Given the description of an element on the screen output the (x, y) to click on. 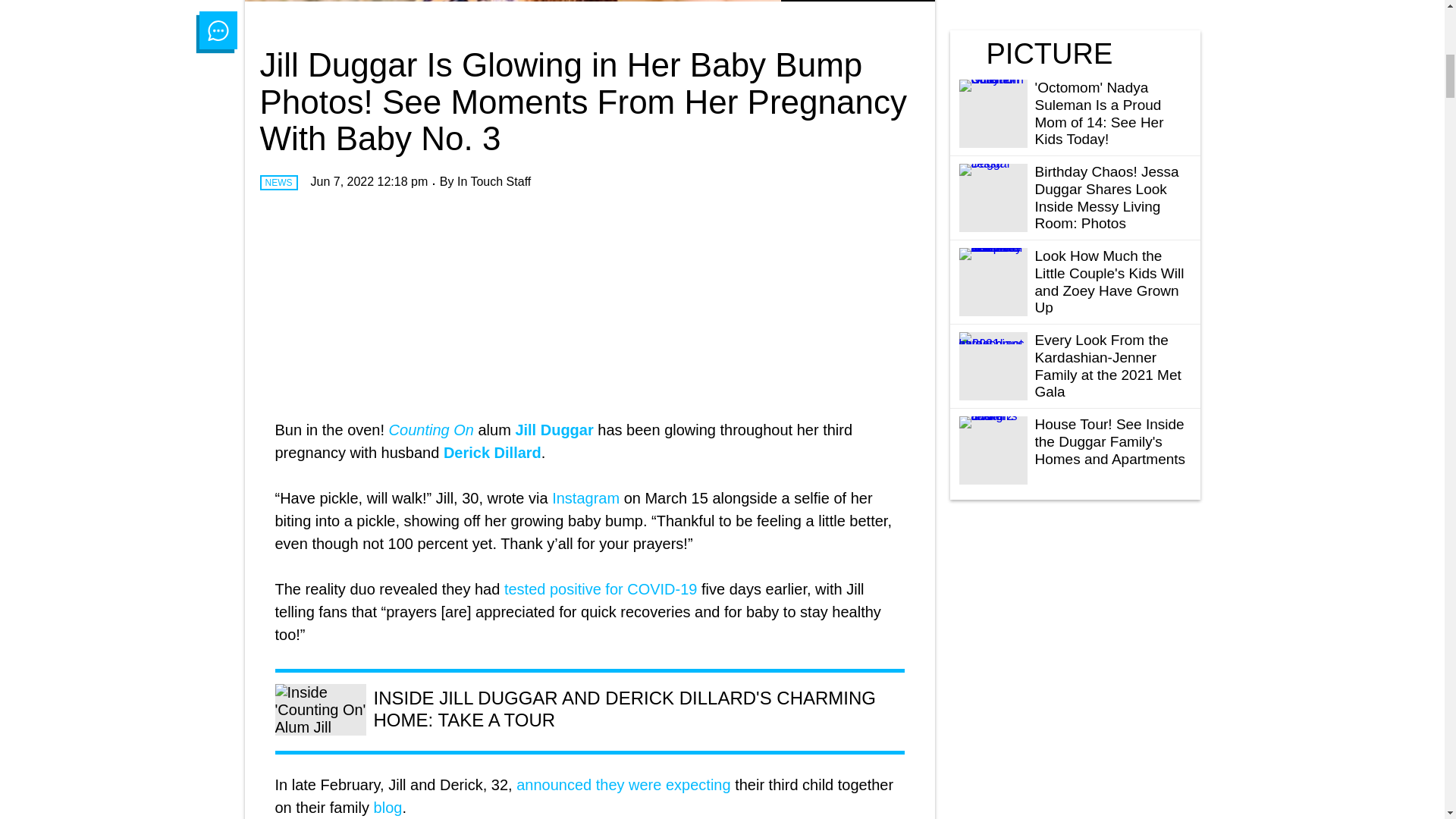
Posts by In Touch Staff (494, 181)
